Given the description of an element on the screen output the (x, y) to click on. 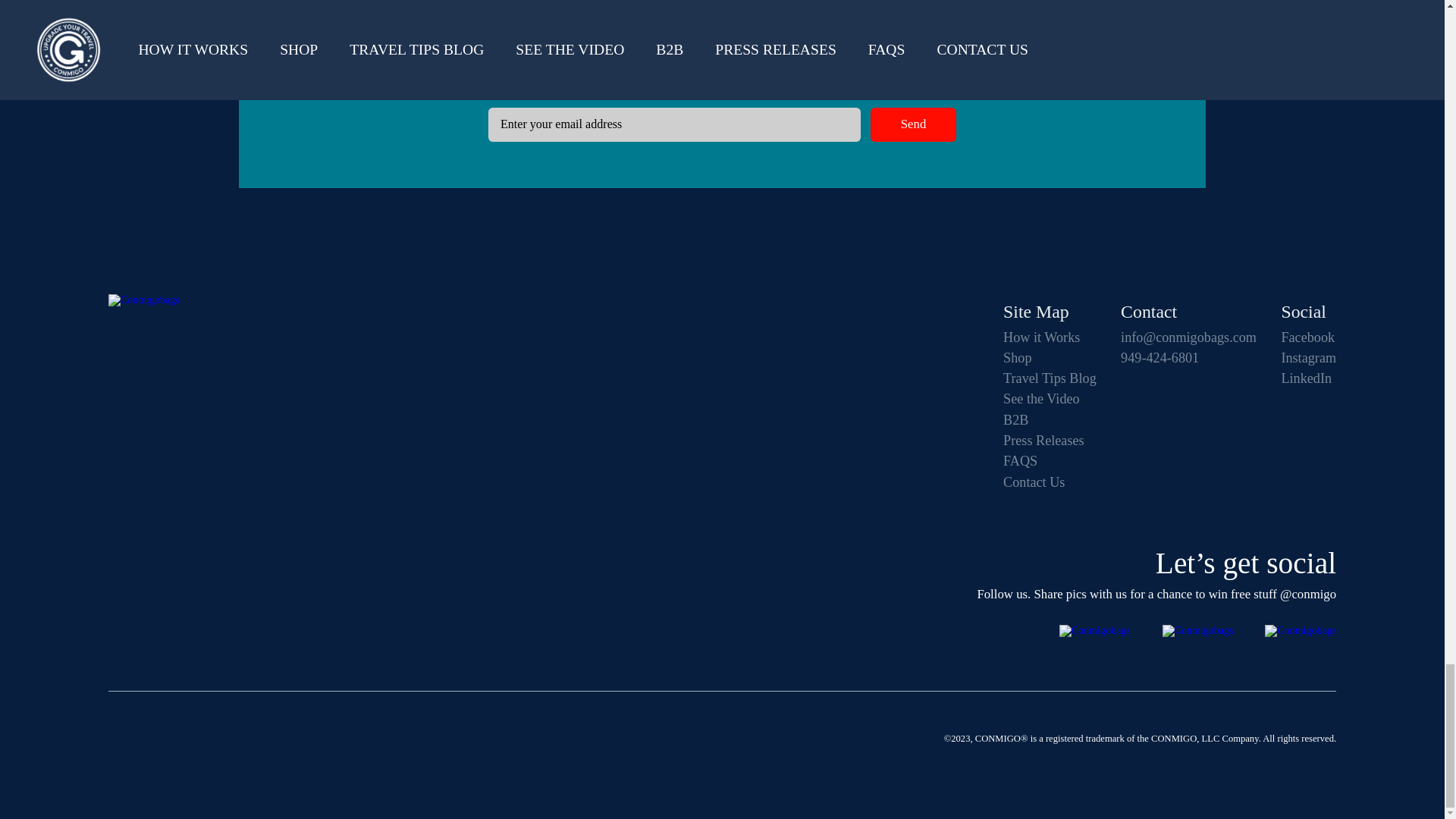
Travel Tips Blog (1049, 377)
Contact Us (1049, 481)
See the Video (1049, 398)
Send (913, 124)
FAQS (1049, 460)
How it Works (1049, 336)
Press Releases (1049, 440)
Shop (1049, 357)
Send (913, 124)
B2B (1049, 419)
